Given the description of an element on the screen output the (x, y) to click on. 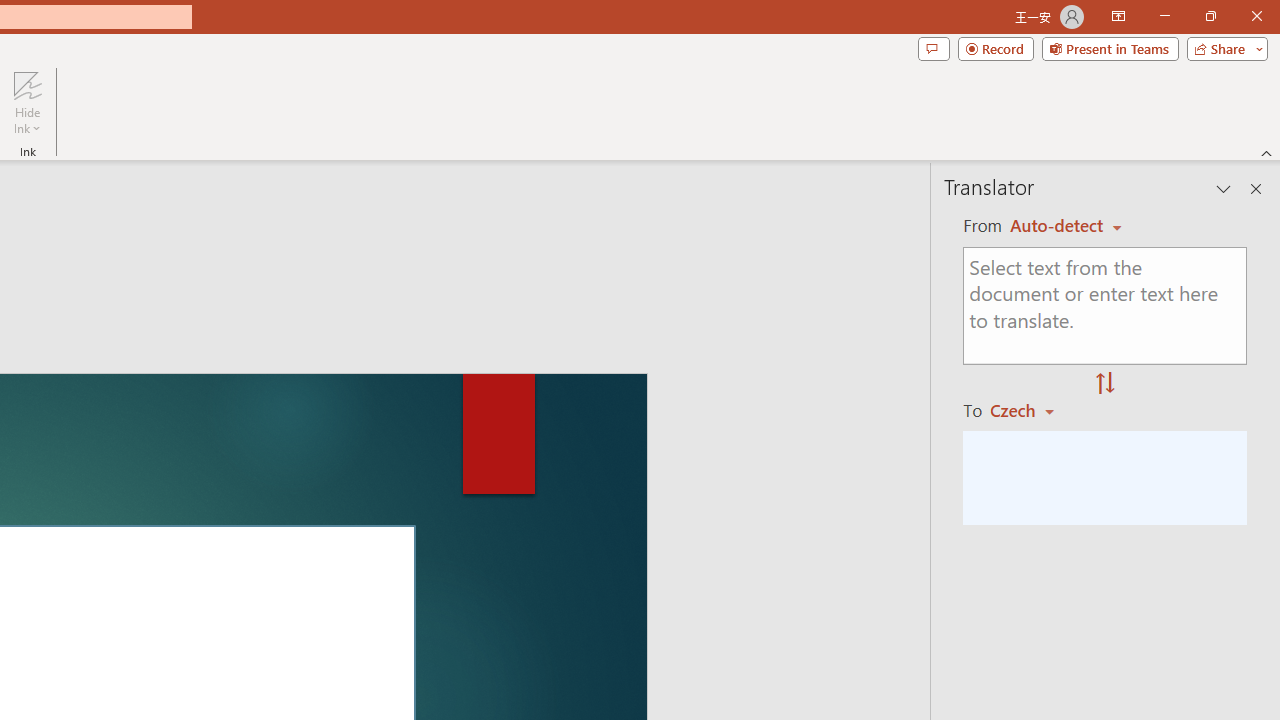
Share (1223, 48)
Hide Ink (27, 84)
Swap "from" and "to" languages. (1105, 383)
Present in Teams (1109, 48)
More Options (27, 121)
Close pane (1256, 188)
Hide Ink (27, 102)
Auto-detect (1066, 225)
Minimize (1164, 16)
Close (1256, 16)
Ribbon Display Options (1118, 16)
Czech (1030, 409)
Collapse the Ribbon (1267, 152)
